Given the description of an element on the screen output the (x, y) to click on. 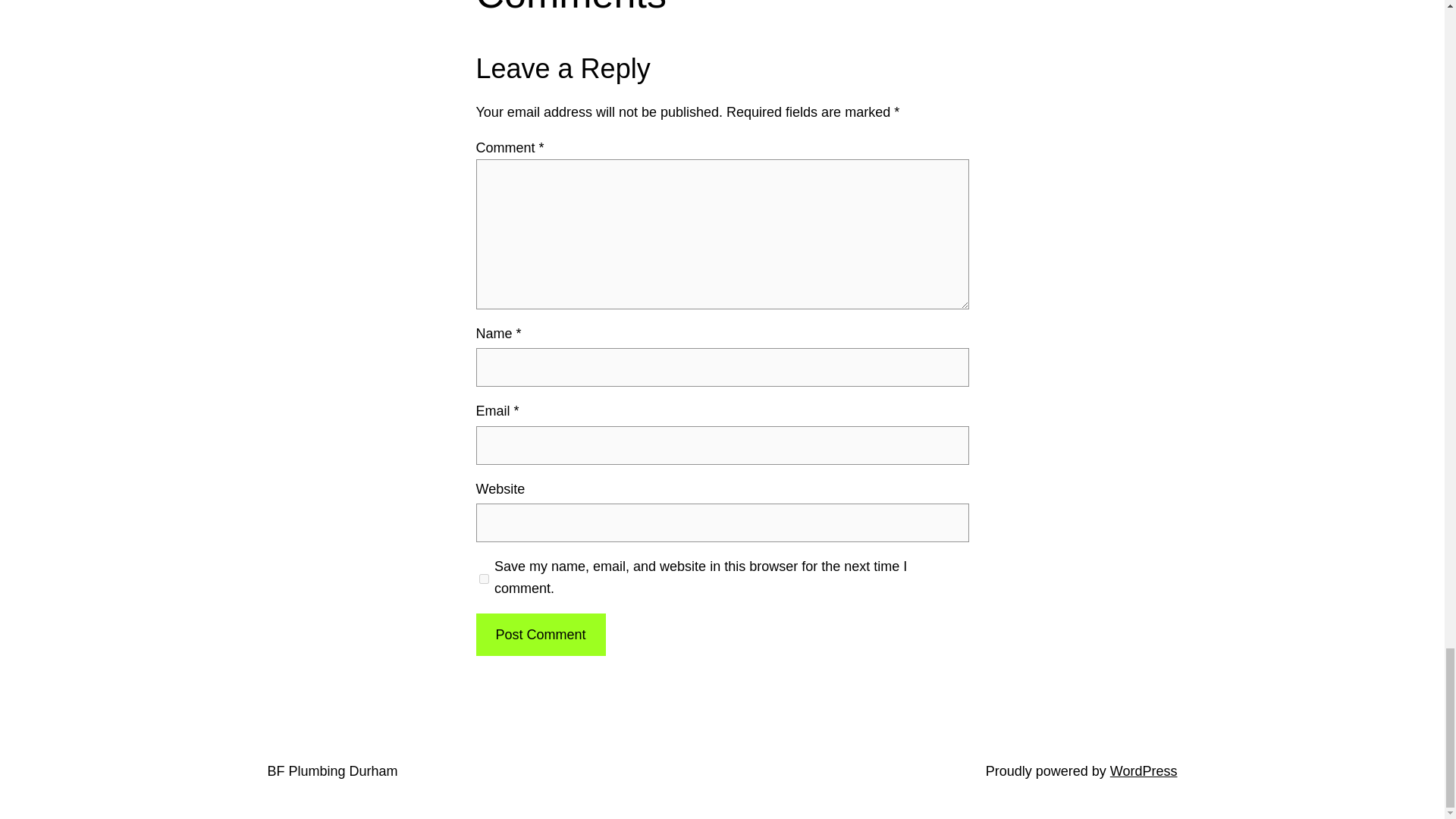
Post Comment (540, 634)
WordPress (1143, 770)
BF Plumbing Durham (331, 770)
Post Comment (540, 634)
